Given the description of an element on the screen output the (x, y) to click on. 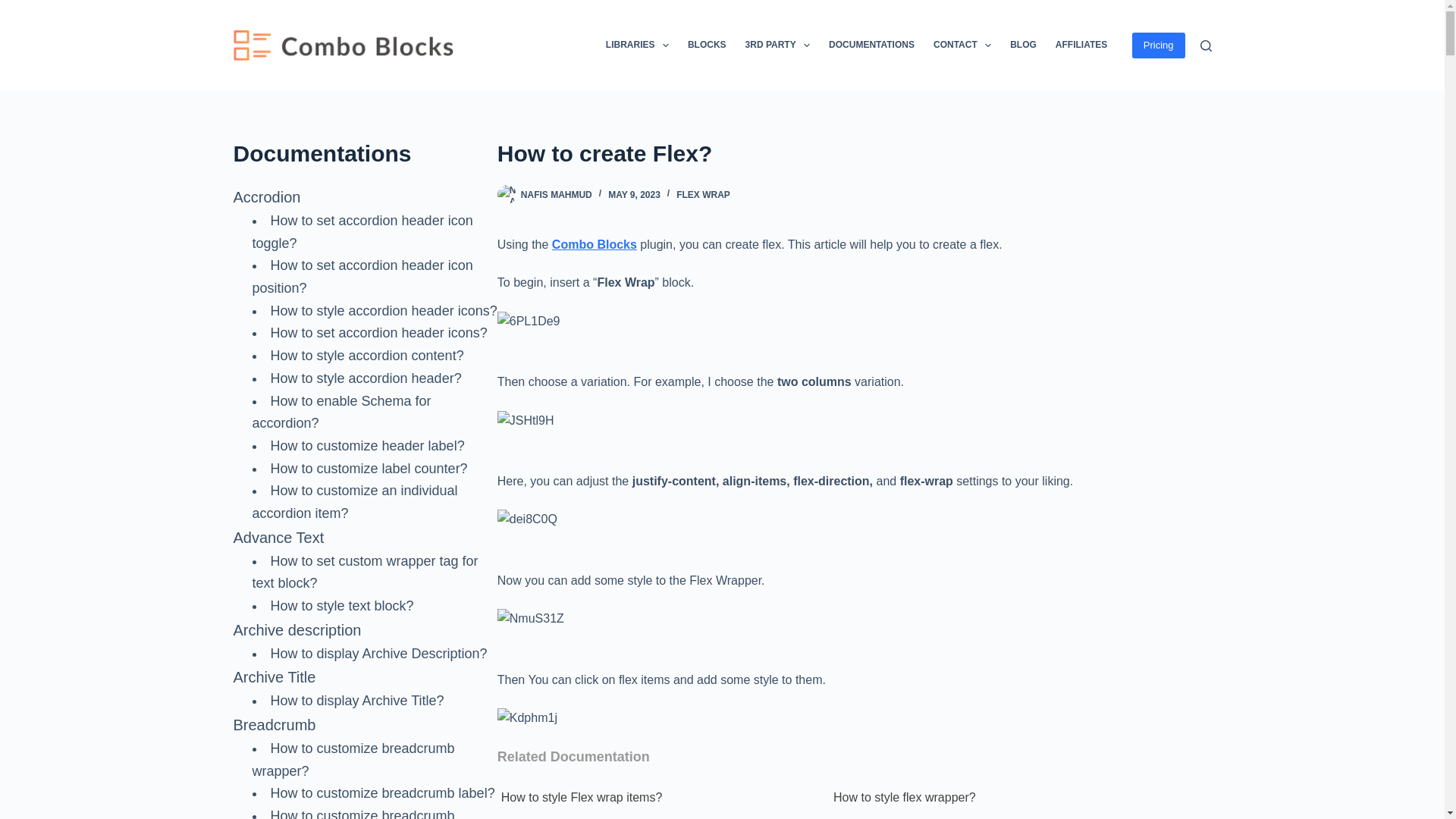
Skip to content (15, 7)
How to create Flex? 2 (525, 420)
How to create Flex? 1 (528, 321)
DOCUMENTATIONS (871, 45)
LIBRARIES (636, 45)
How to create Flex? 3 (527, 519)
Posts by Nafis Mahmud (556, 194)
How to create Flex? 4 (530, 618)
How to create Flex? (854, 153)
3RD PARTY (777, 45)
How to create Flex? 5 (527, 718)
How to style flex wrapper? (993, 797)
How to style Flex wrap items? (661, 797)
